Given the description of an element on the screen output the (x, y) to click on. 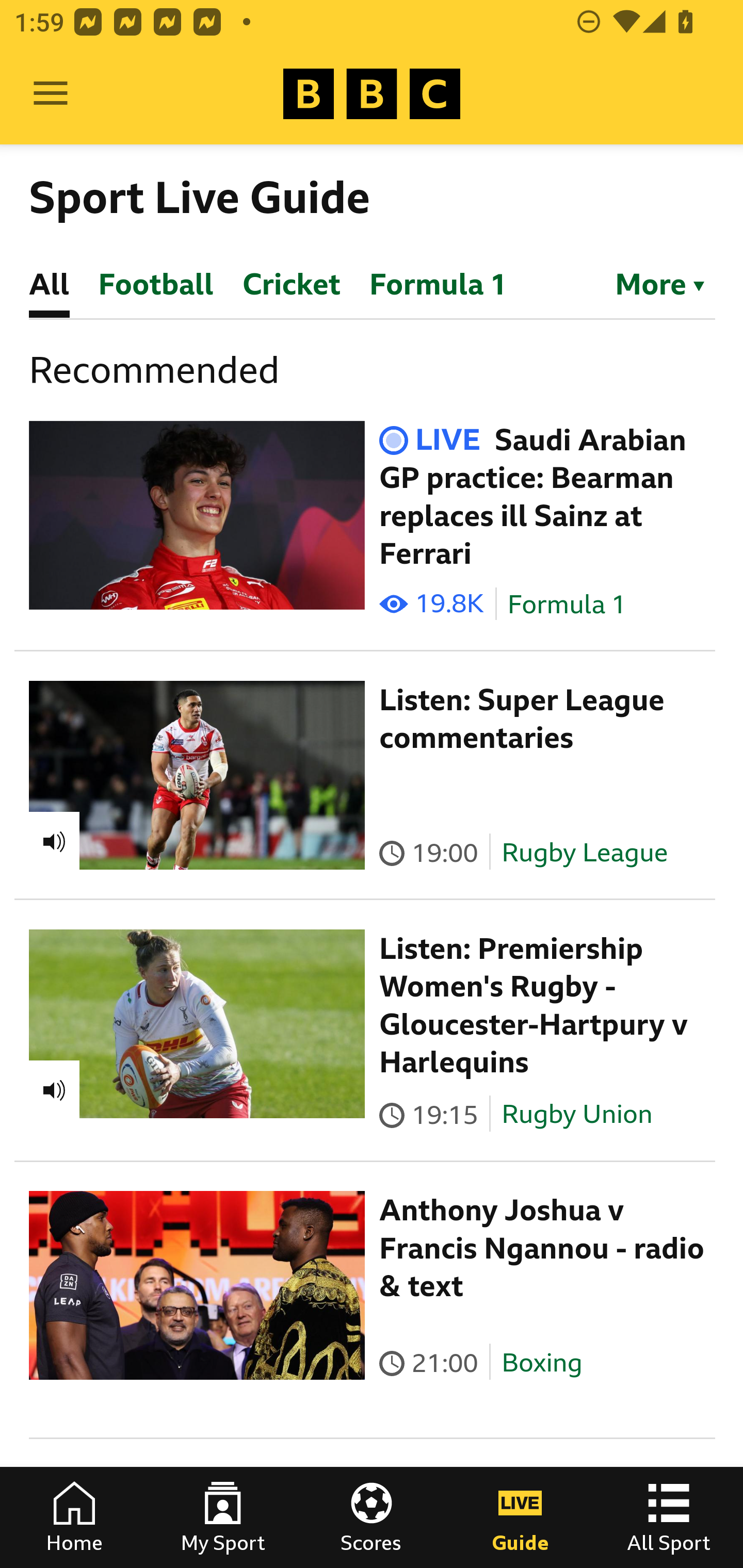
Open Menu (50, 93)
Formula 1 (566, 604)
Listen: Super League commentaries (522, 718)
Rugby League (584, 851)
Rugby Union (576, 1113)
Anthony Joshua v Francis Ngannou - radio & text (541, 1248)
Boxing (541, 1362)
Home (74, 1517)
My Sport (222, 1517)
Scores (371, 1517)
All Sport (668, 1517)
